Given the description of an element on the screen output the (x, y) to click on. 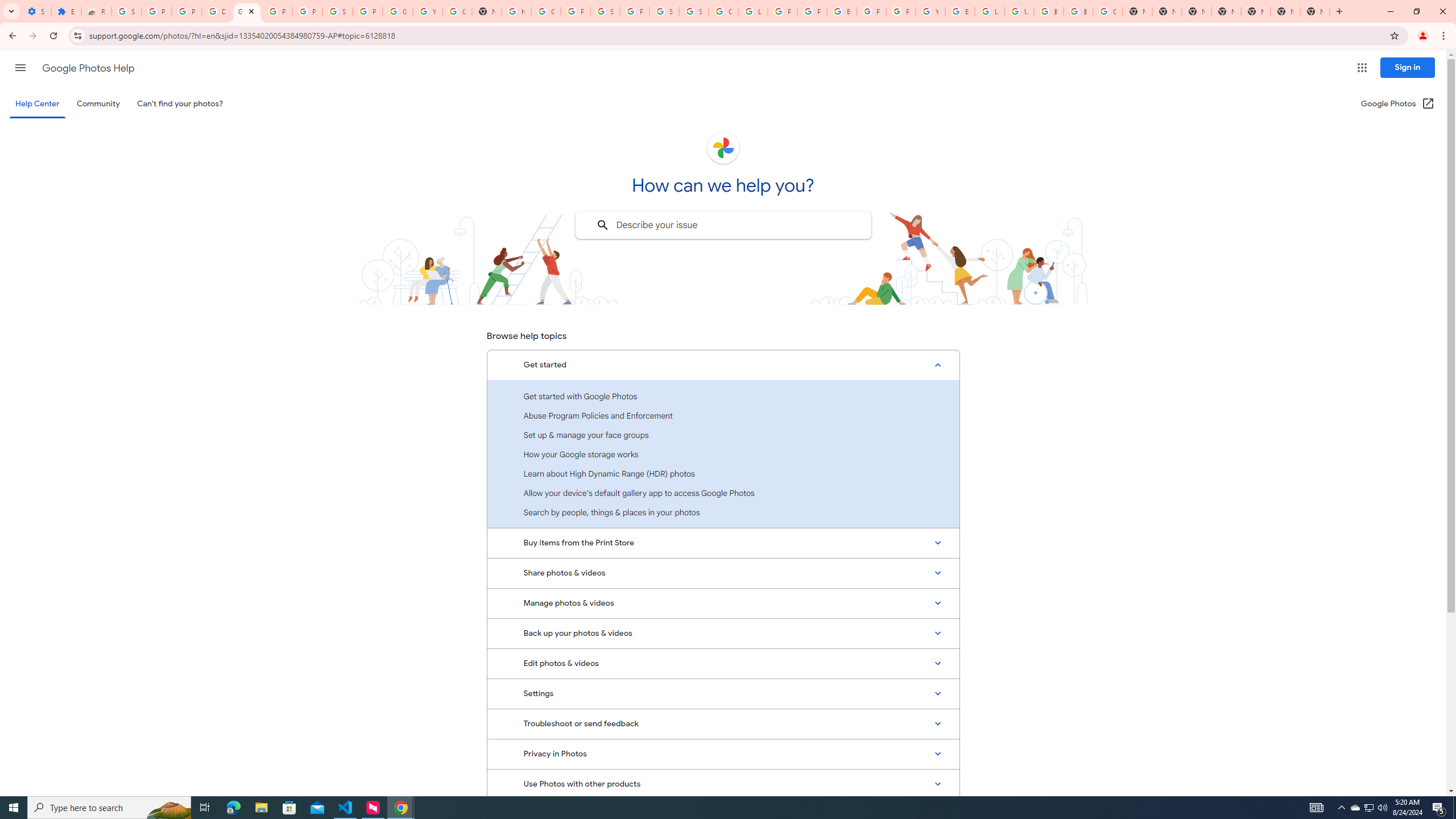
Can't find your photos? (180, 103)
Privacy Help Center - Policies Help (811, 11)
Community (97, 103)
Privacy in Photos (722, 754)
Abuse Program Policies and Enforcement (722, 415)
New Tab (1314, 11)
